Given the description of an element on the screen output the (x, y) to click on. 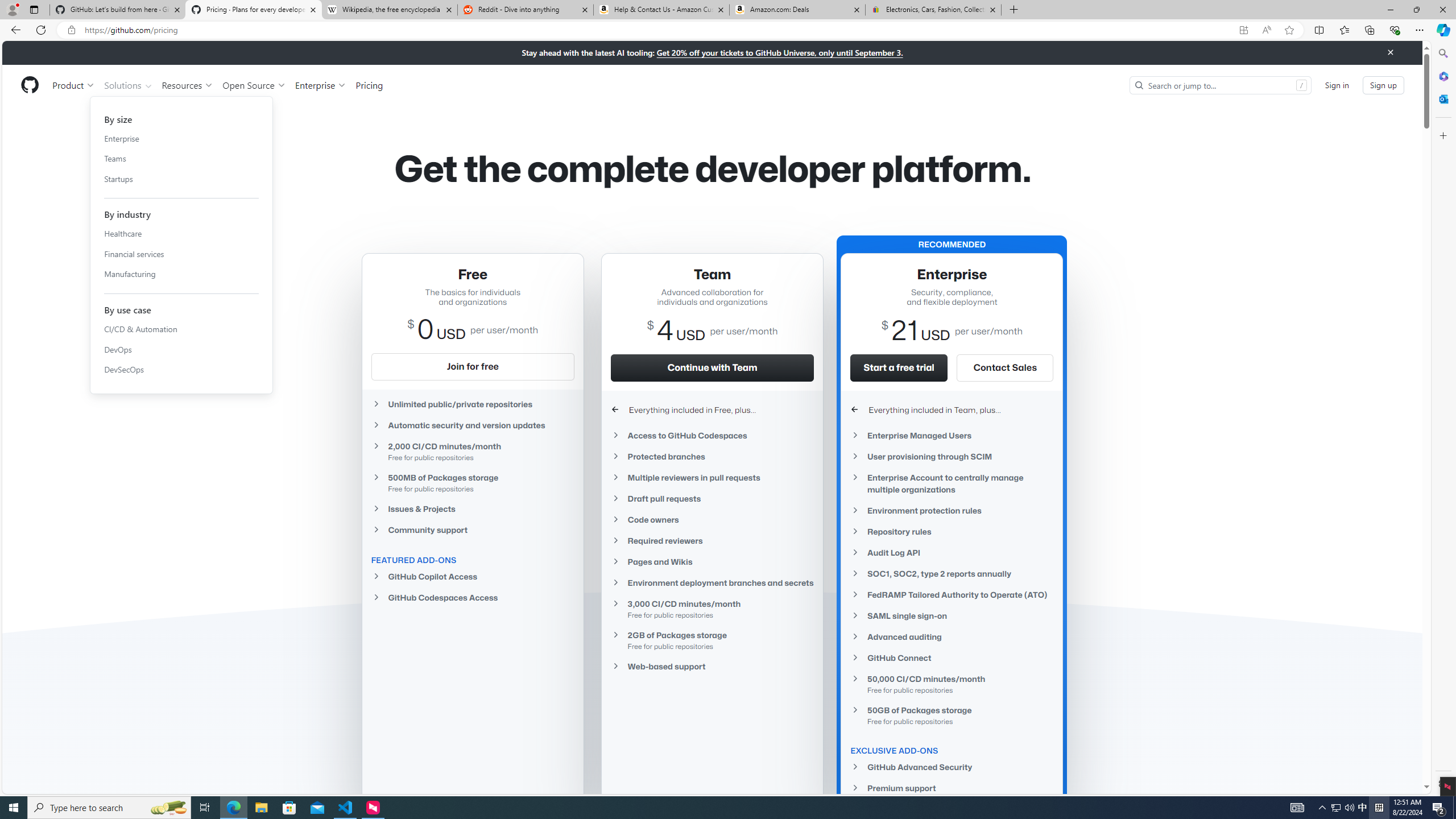
Solutions (128, 84)
3,000 CI/CD minutes/month Free for public repositories (711, 608)
DevOps (181, 349)
2,000 CI/CD minutes/monthFree for public repositories (473, 450)
Issues & Projects (473, 508)
Multiple reviewers in pull requests (711, 477)
Draft pull requests (711, 498)
CI/CD & Automation (181, 329)
CI/CD & Automation (181, 329)
Startups (181, 178)
Automatic security and version updates (473, 425)
